Given the description of an element on the screen output the (x, y) to click on. 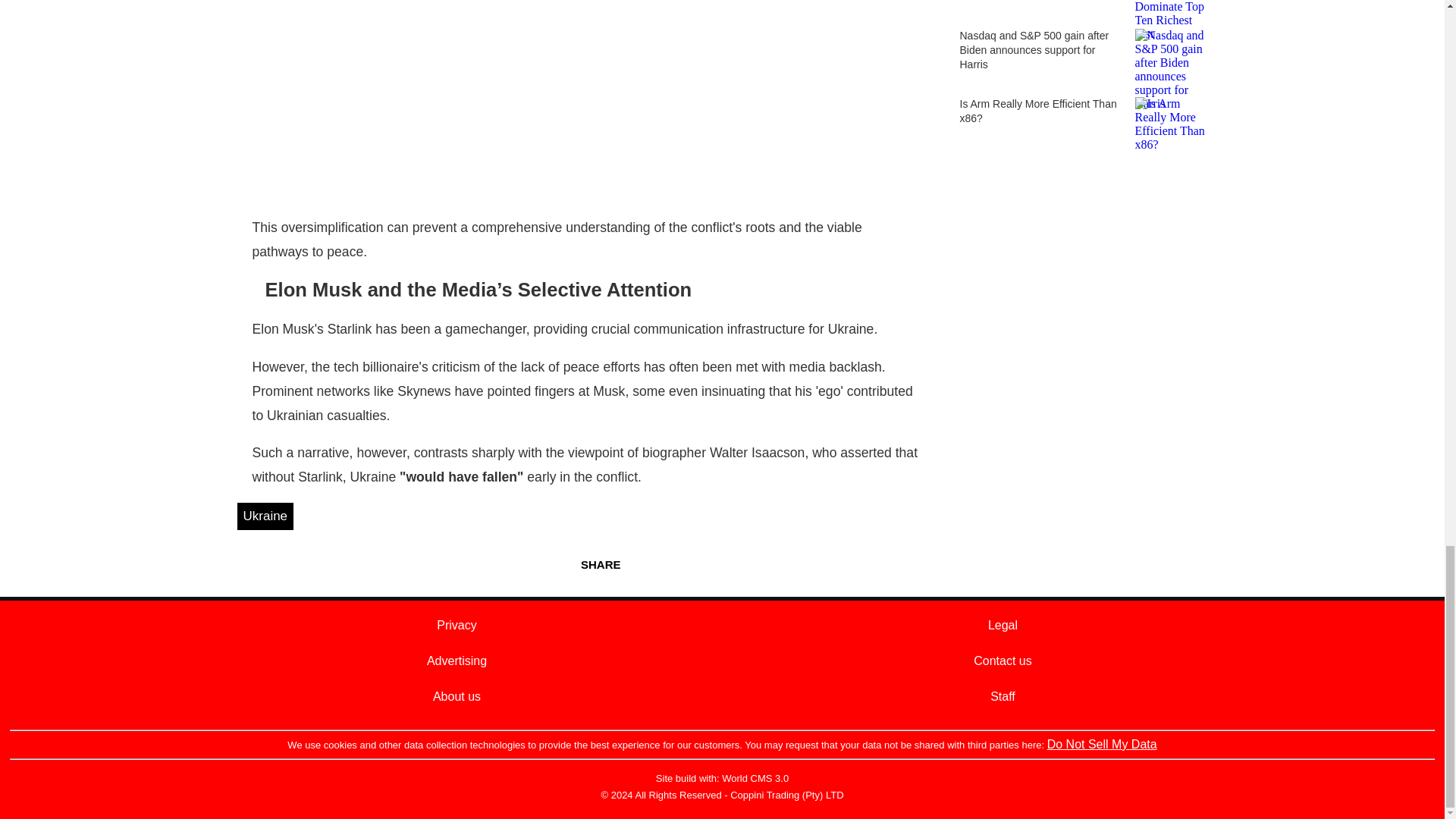
Ukraine (264, 515)
